Given the description of an element on the screen output the (x, y) to click on. 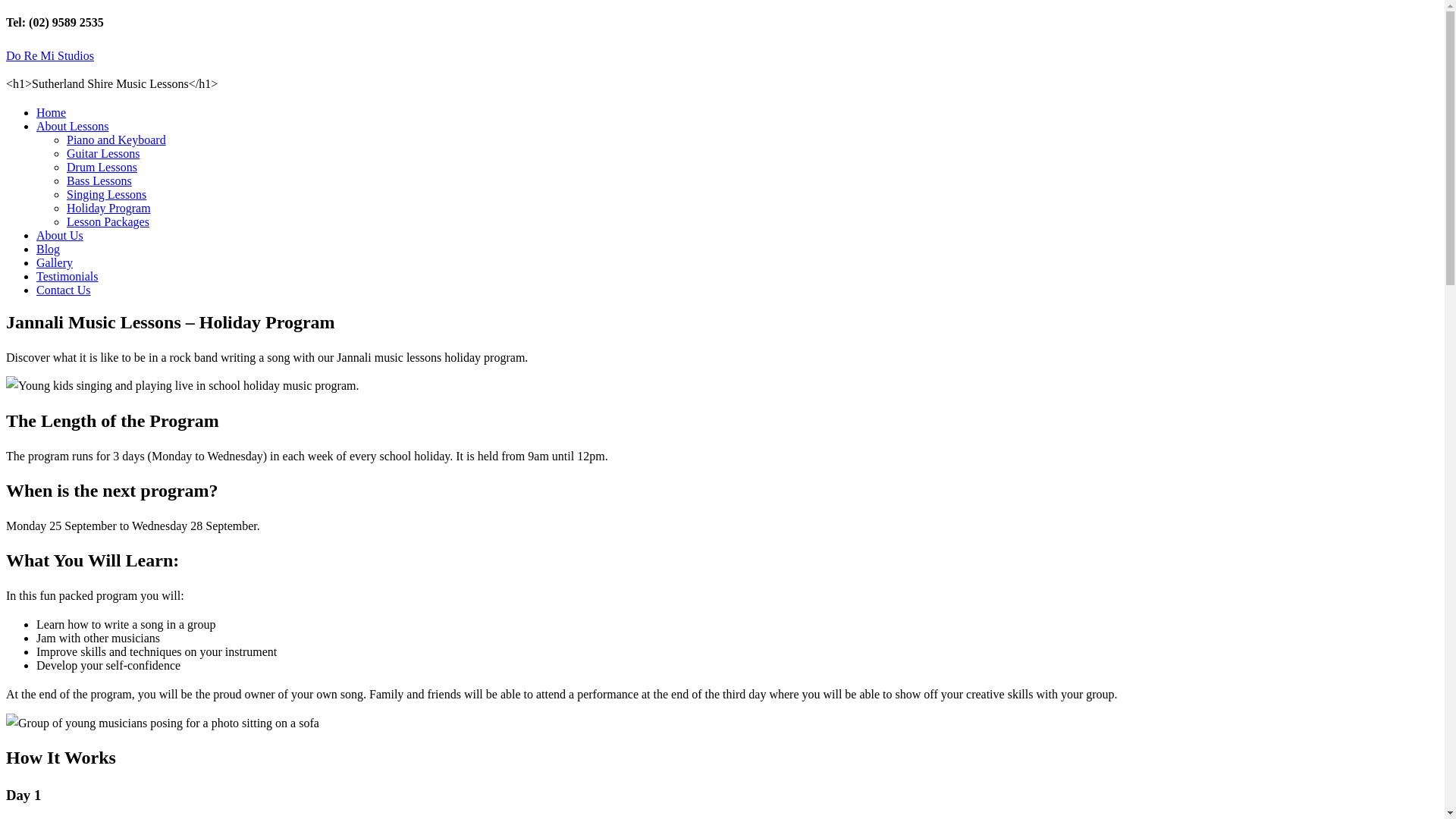
Piano and Keyboard Element type: text (116, 139)
Gallery Element type: text (54, 262)
Singing Lessons Element type: text (106, 194)
Drum Lessons Element type: text (101, 166)
About Us Element type: text (59, 235)
Holiday Program Element type: text (108, 207)
Lesson Packages Element type: text (107, 221)
Contact Us Element type: text (63, 289)
Guitar Lessons Element type: text (102, 153)
Home Element type: text (50, 112)
Do Re Mi Studios Element type: text (50, 55)
Bass Lessons Element type: text (98, 180)
Blog Element type: text (47, 248)
About Lessons Element type: text (72, 125)
Testimonials Element type: text (67, 275)
